Given the description of an element on the screen output the (x, y) to click on. 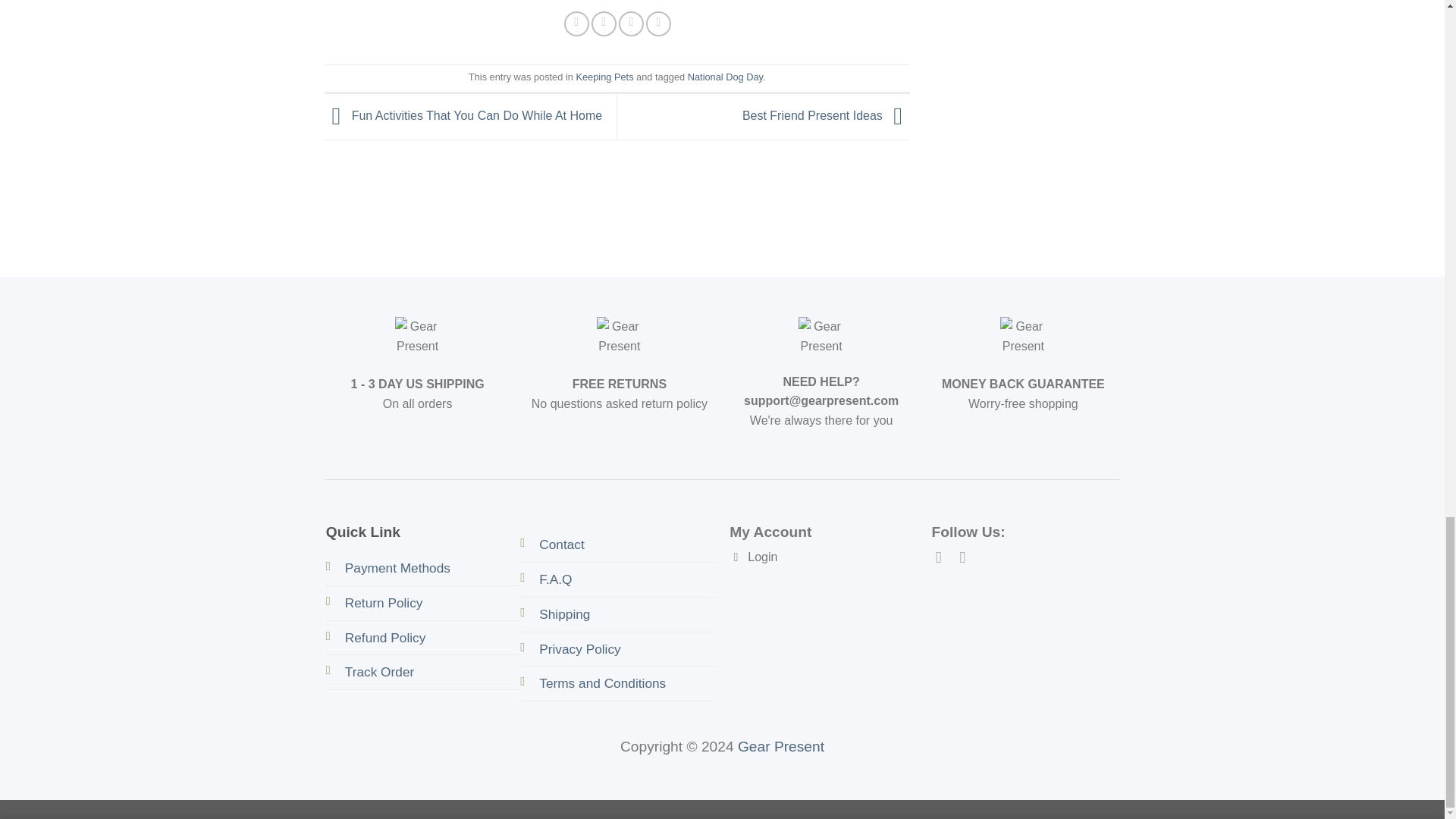
Share on Facebook (576, 23)
Follow on Facebook (944, 556)
Share on Telegram (658, 23)
Pin on Pinterest (630, 23)
Share on Twitter (603, 23)
Follow on Pinterest (967, 556)
